Given the description of an element on the screen output the (x, y) to click on. 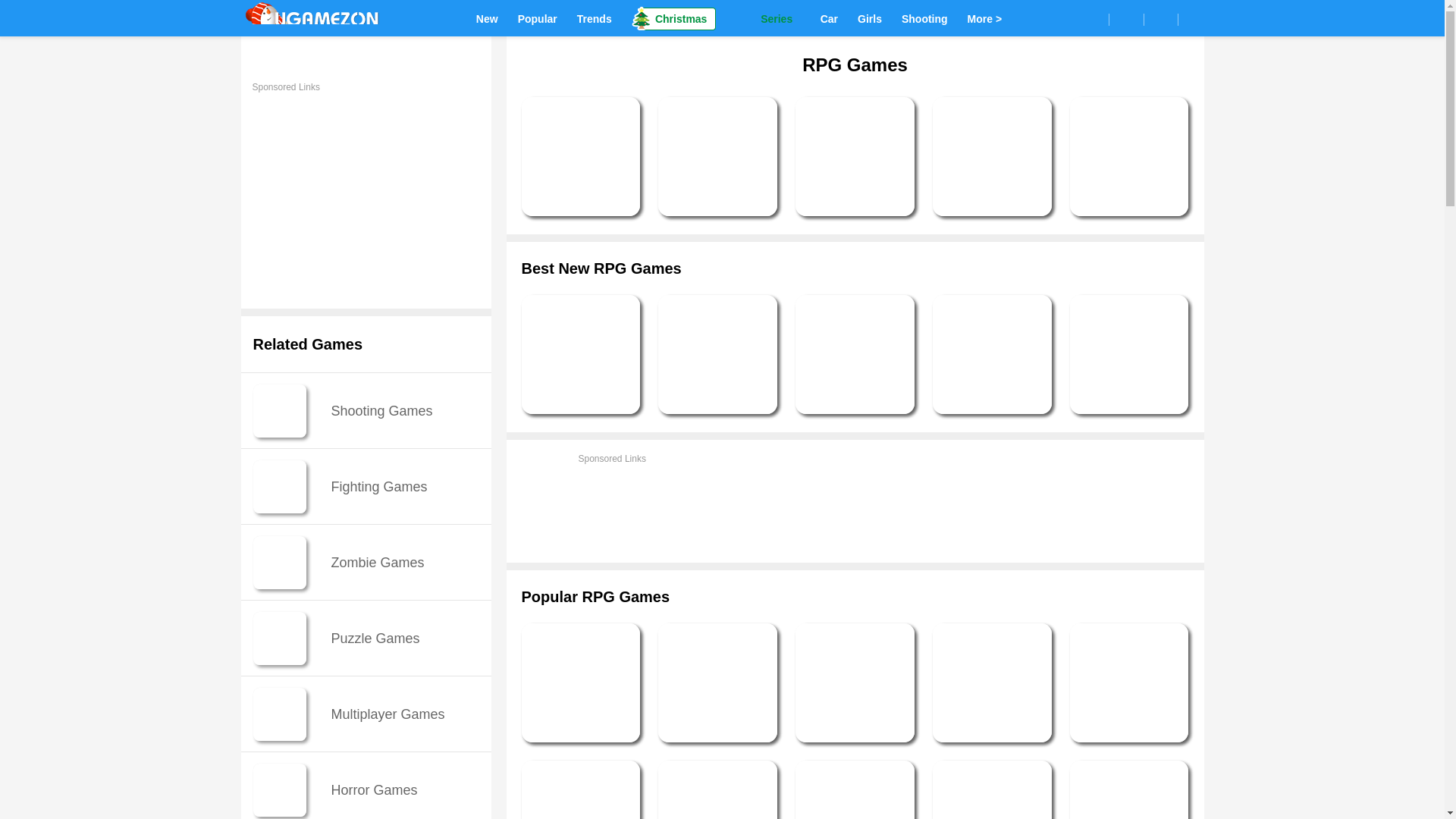
Series (766, 17)
Horror Games (366, 785)
Multiplayer Games (366, 713)
Puzzle Games (366, 637)
Fighting Games (366, 486)
Series (766, 17)
More Games (984, 17)
Trends (593, 17)
Puzzle Games (366, 637)
Games Trends (593, 17)
Games for Girls (869, 17)
Car (828, 17)
Fighting Games (366, 486)
Shooting Games (924, 17)
Popular Games (537, 17)
